Given the description of an element on the screen output the (x, y) to click on. 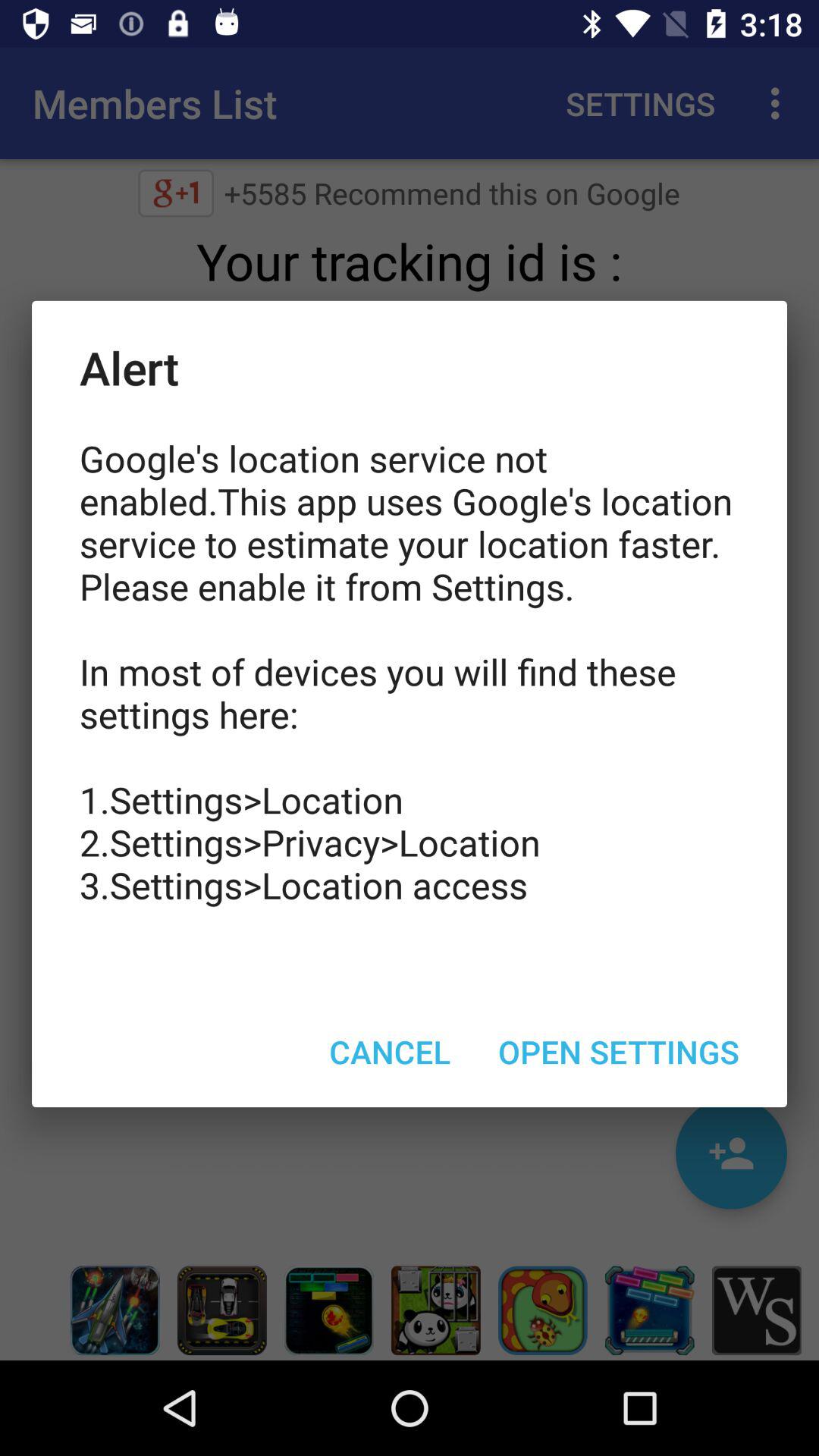
press the item next to the cancel (618, 1051)
